Given the description of an element on the screen output the (x, y) to click on. 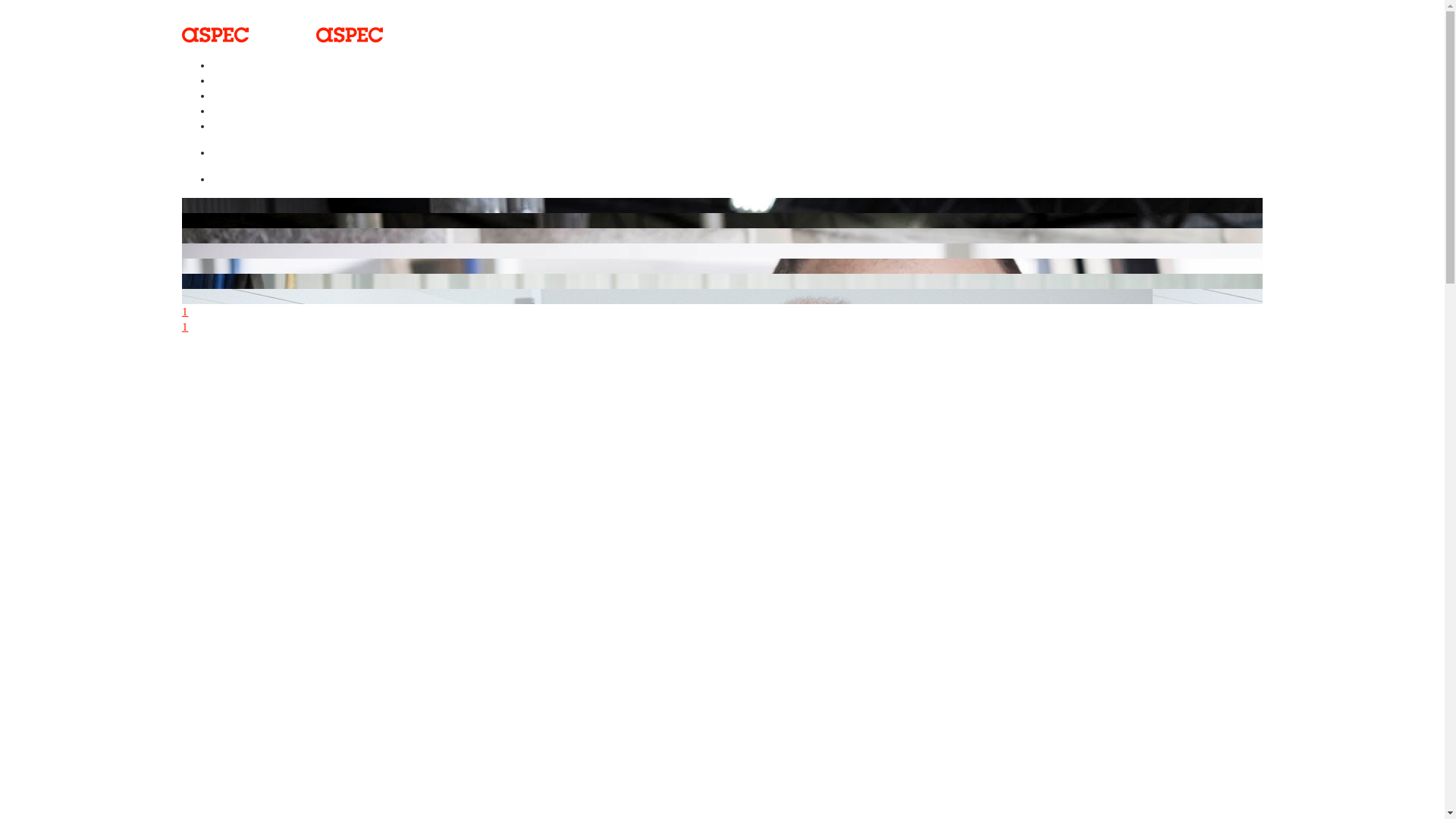
Portfolio Element type: text (242, 90)
Career Element type: text (236, 121)
1 Element type: text (722, 311)
Home Element type: text (235, 75)
Contact Element type: text (239, 105)
Fr Element type: text (225, 136)
1 Element type: text (722, 326)
